Given the description of an element on the screen output the (x, y) to click on. 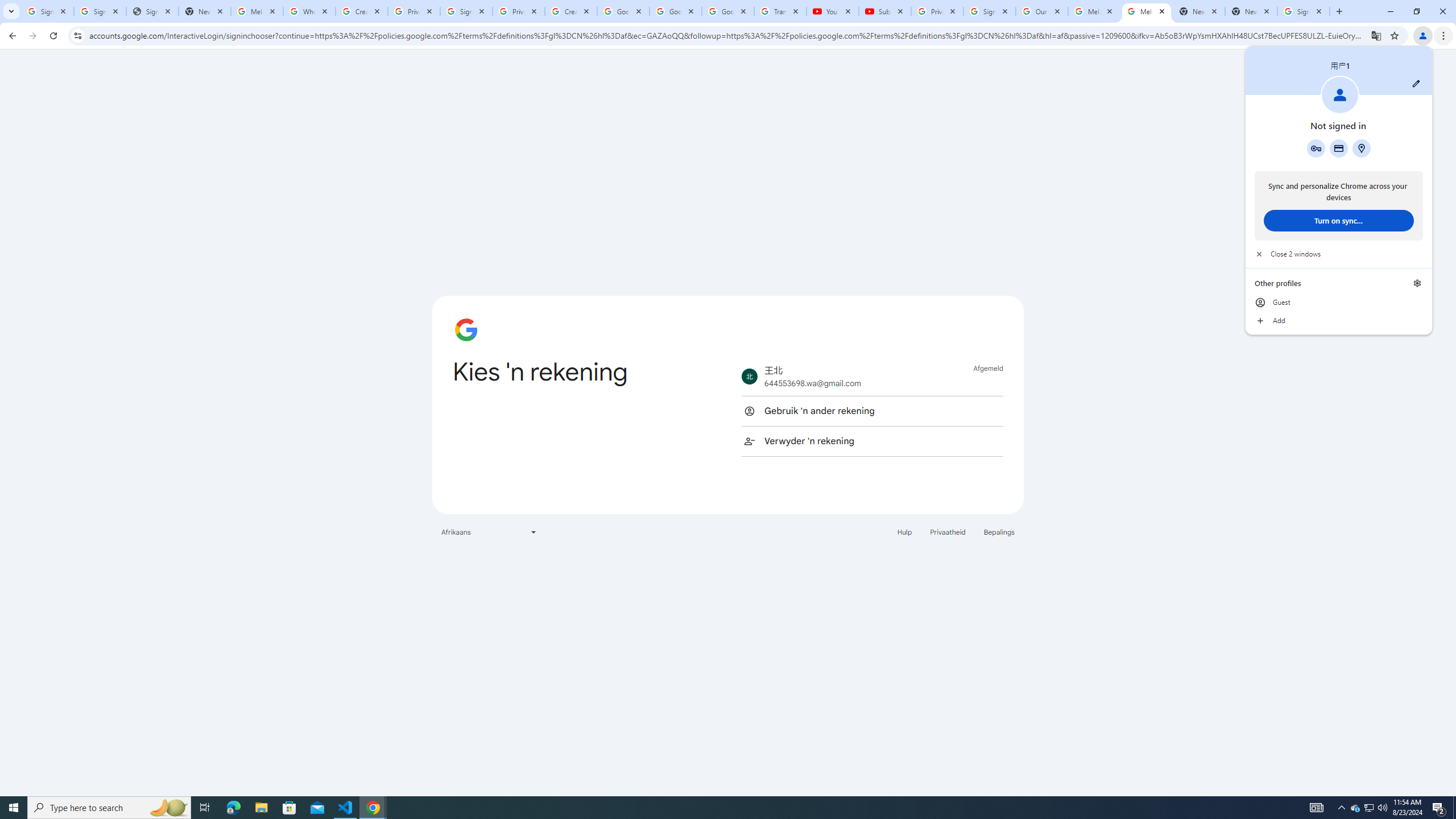
File Explorer (1368, 807)
Microsoft Edge (261, 807)
Gebruik 'n ander rekening (233, 807)
AutomationID: 4105 (871, 410)
Google Password Manager (1316, 807)
Sign in - Google Accounts (1315, 148)
Sign In - USA TODAY (989, 11)
